Given the description of an element on the screen output the (x, y) to click on. 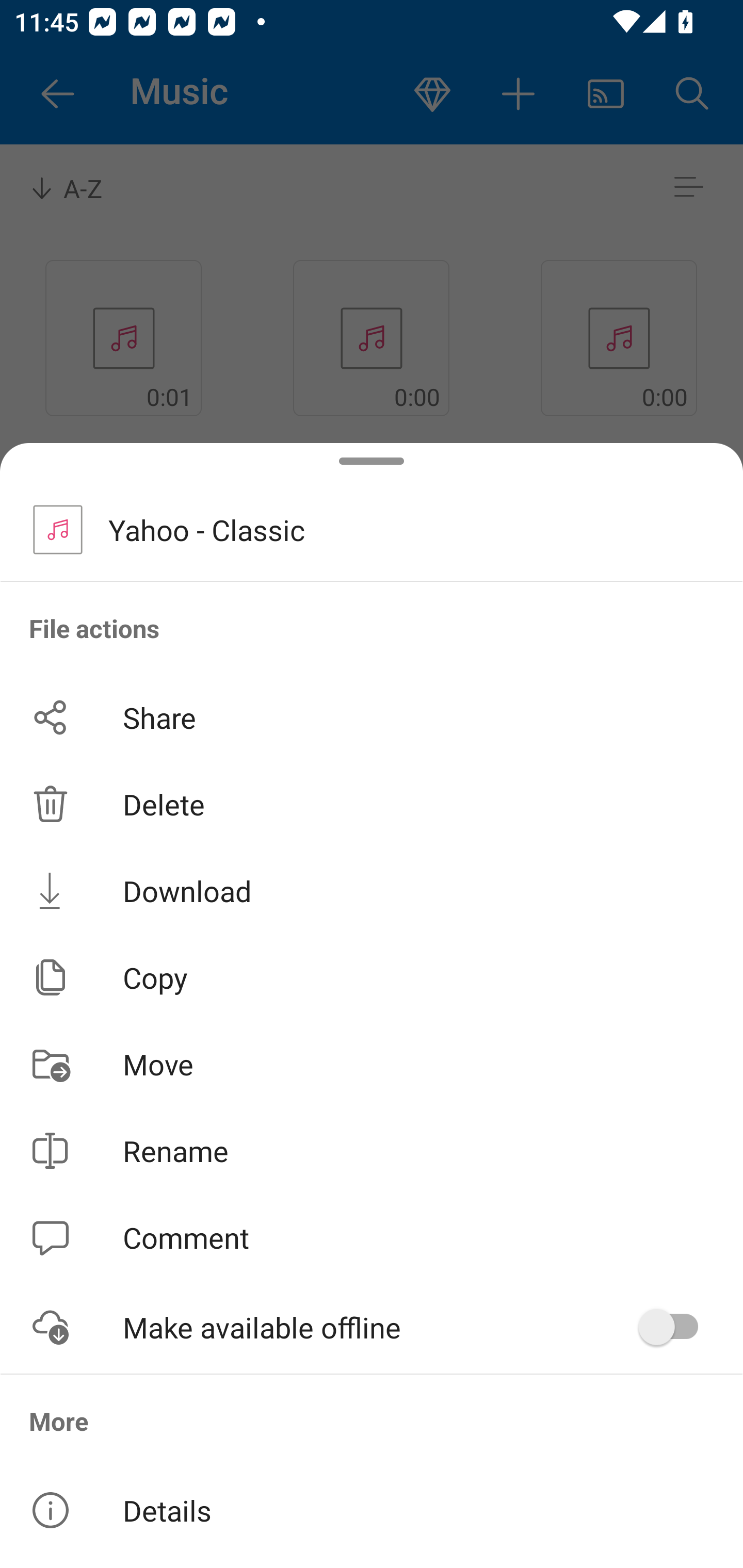
Share button Share (371, 717)
Delete button Delete (371, 803)
Download button Download (371, 890)
Copy button Copy (371, 977)
Move button Move (371, 1063)
Rename button Rename (371, 1150)
Comment button Comment (371, 1237)
Make offline operation (674, 1327)
Details button Details (371, 1510)
